Given the description of an element on the screen output the (x, y) to click on. 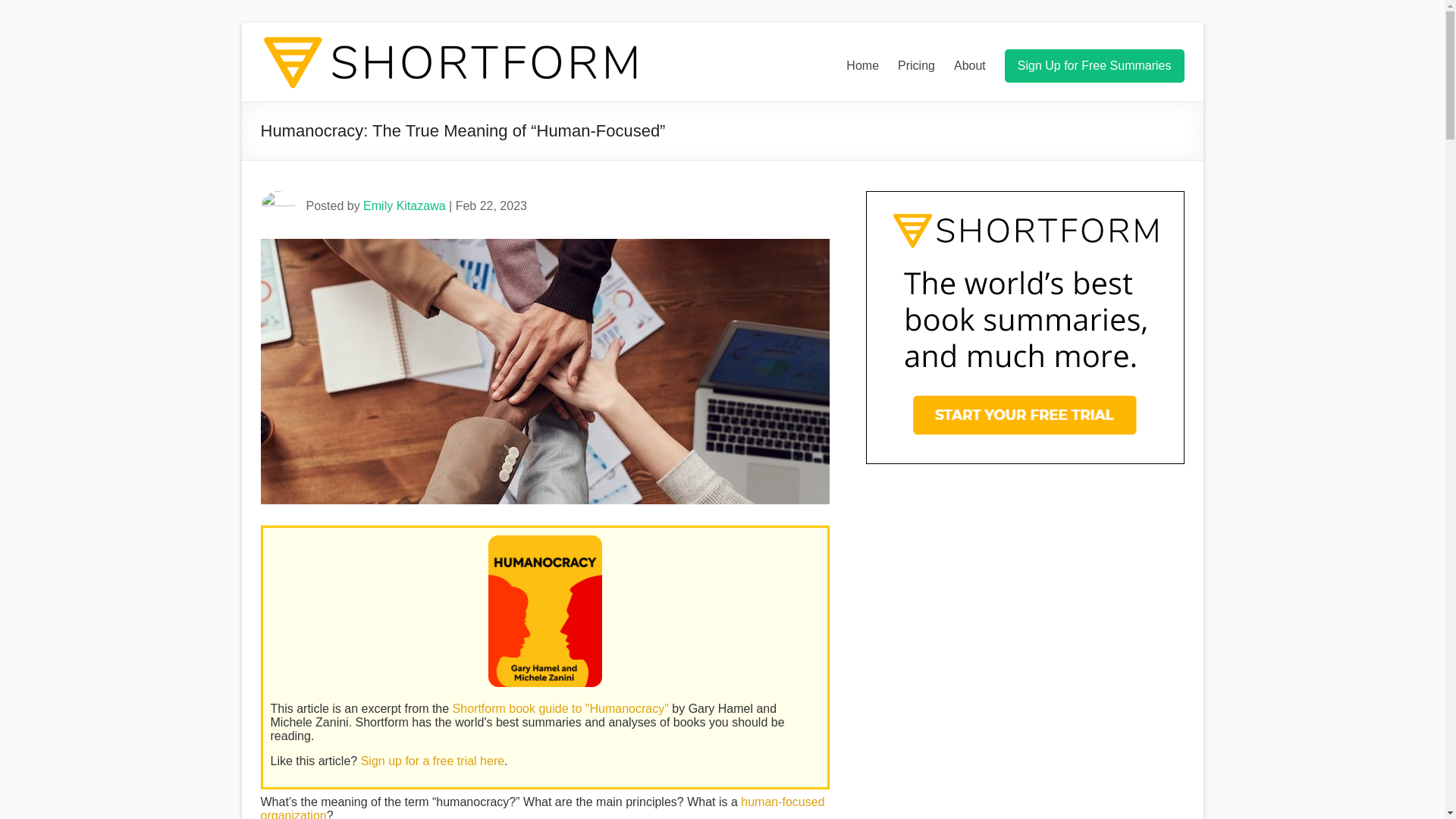
human-focused organization (542, 807)
About (969, 65)
Pricing (916, 65)
Emily Kitazawa (403, 205)
Sign up for a free trial here (432, 760)
Home (862, 65)
Sign Up for Free Summaries (1094, 65)
Shortform book guide to "Humanocracy" (560, 707)
